Given the description of an element on the screen output the (x, y) to click on. 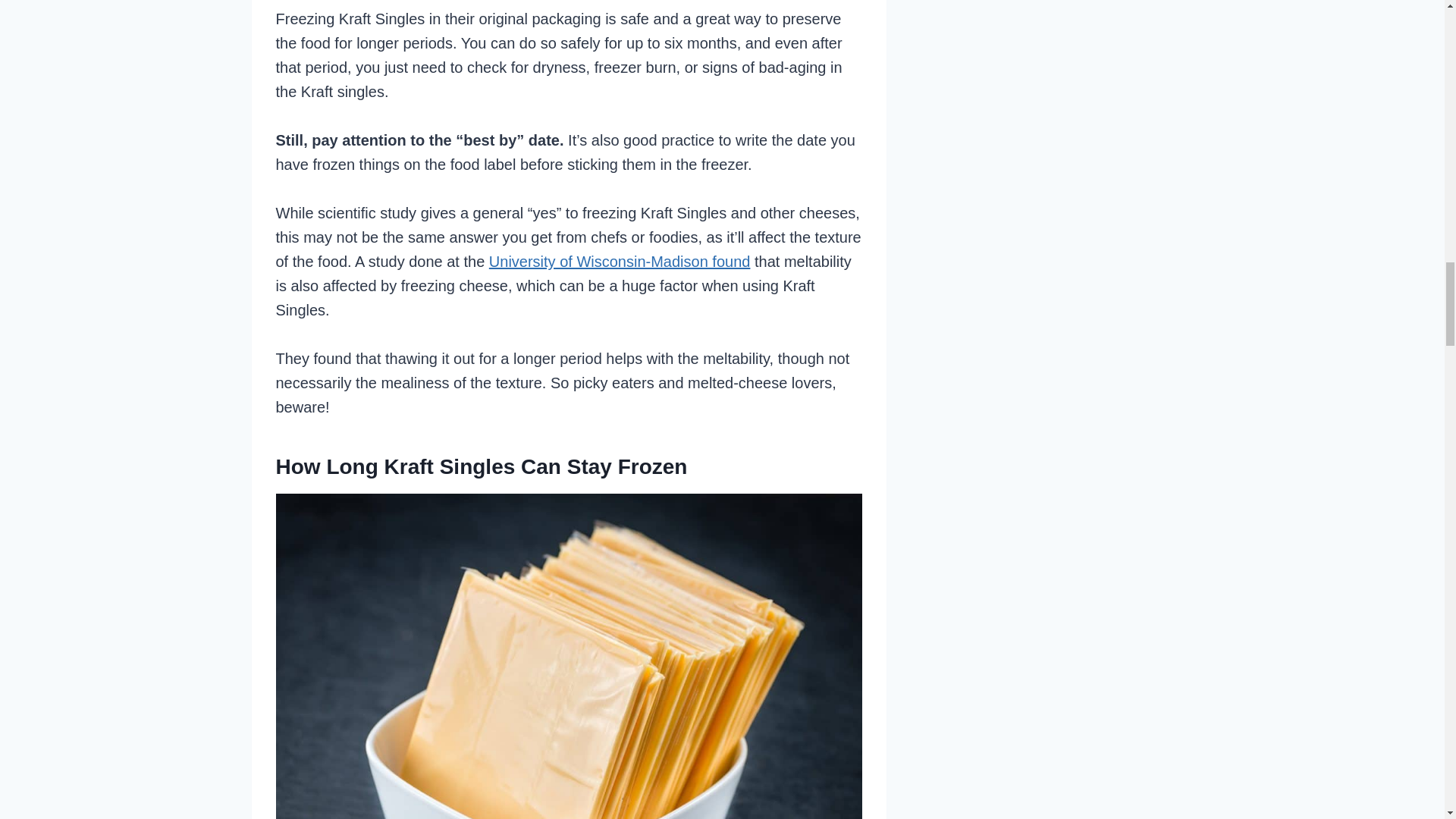
University of Wisconsin-Madison found (620, 261)
